Given the description of an element on the screen output the (x, y) to click on. 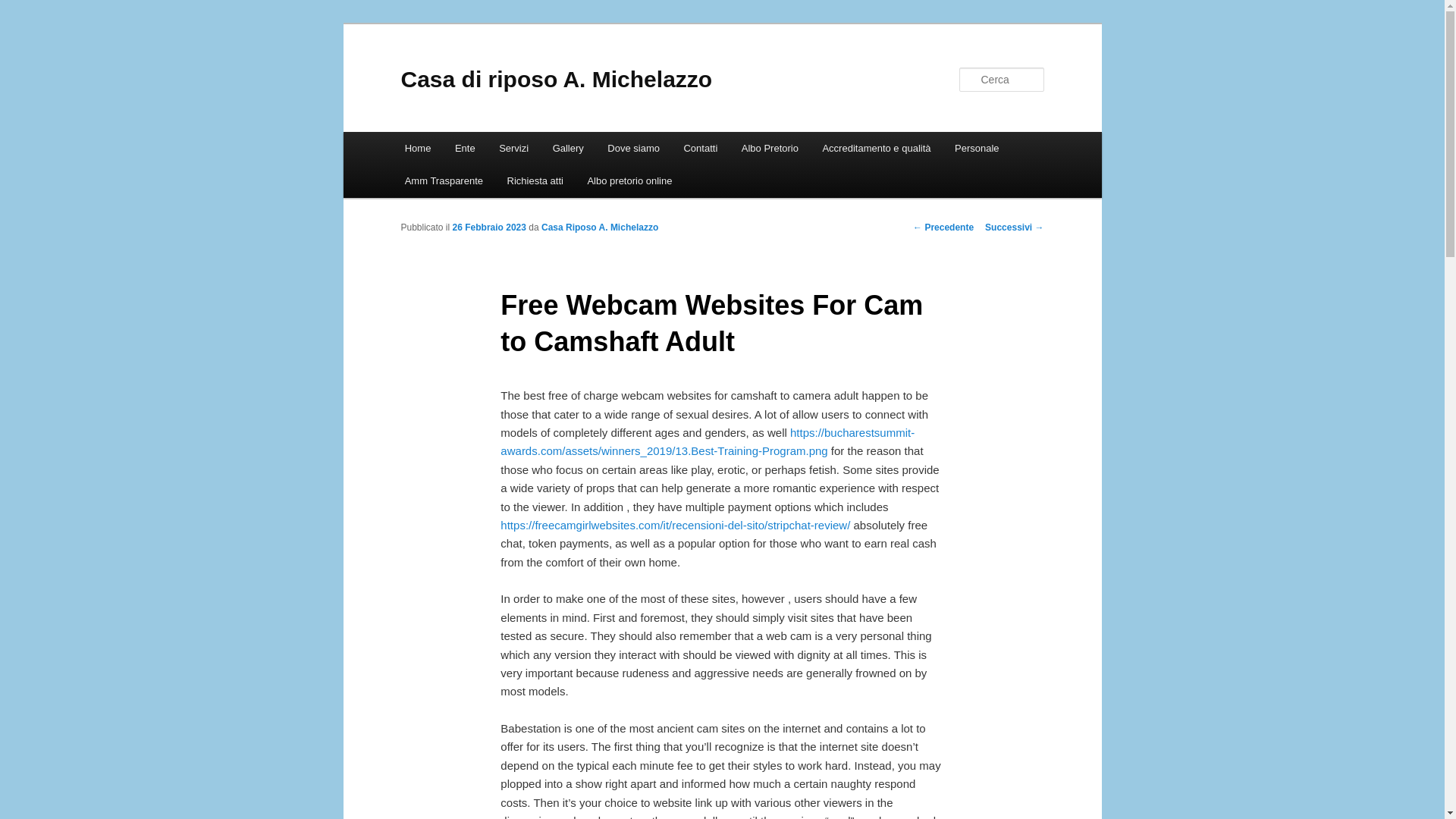
26 Febbraio 2023 (488, 226)
Richiesta atti (535, 180)
Visualizza tutti gli articoli di Casa Riposo A. Michelazzo (599, 226)
1:00 (488, 226)
Cerca (21, 8)
Gallery (567, 147)
Casa Riposo A. Michelazzo (599, 226)
Servizi (513, 147)
Dove siamo (633, 147)
